Given the description of an element on the screen output the (x, y) to click on. 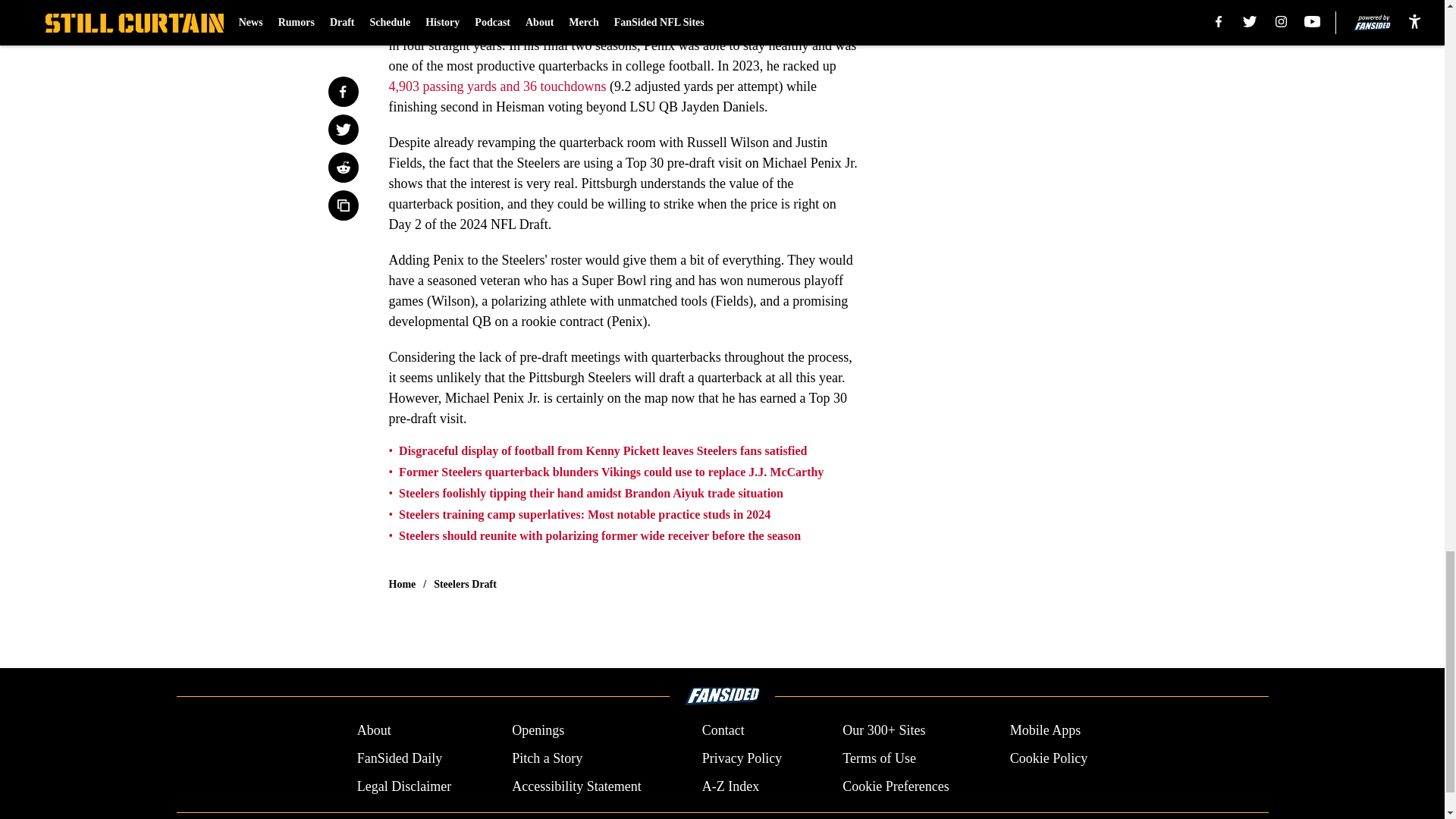
4,903 passing yards and 36 touchdowns (496, 86)
Steelers Draft (464, 584)
Openings (538, 730)
About (373, 730)
Contact (722, 730)
